Given the description of an element on the screen output the (x, y) to click on. 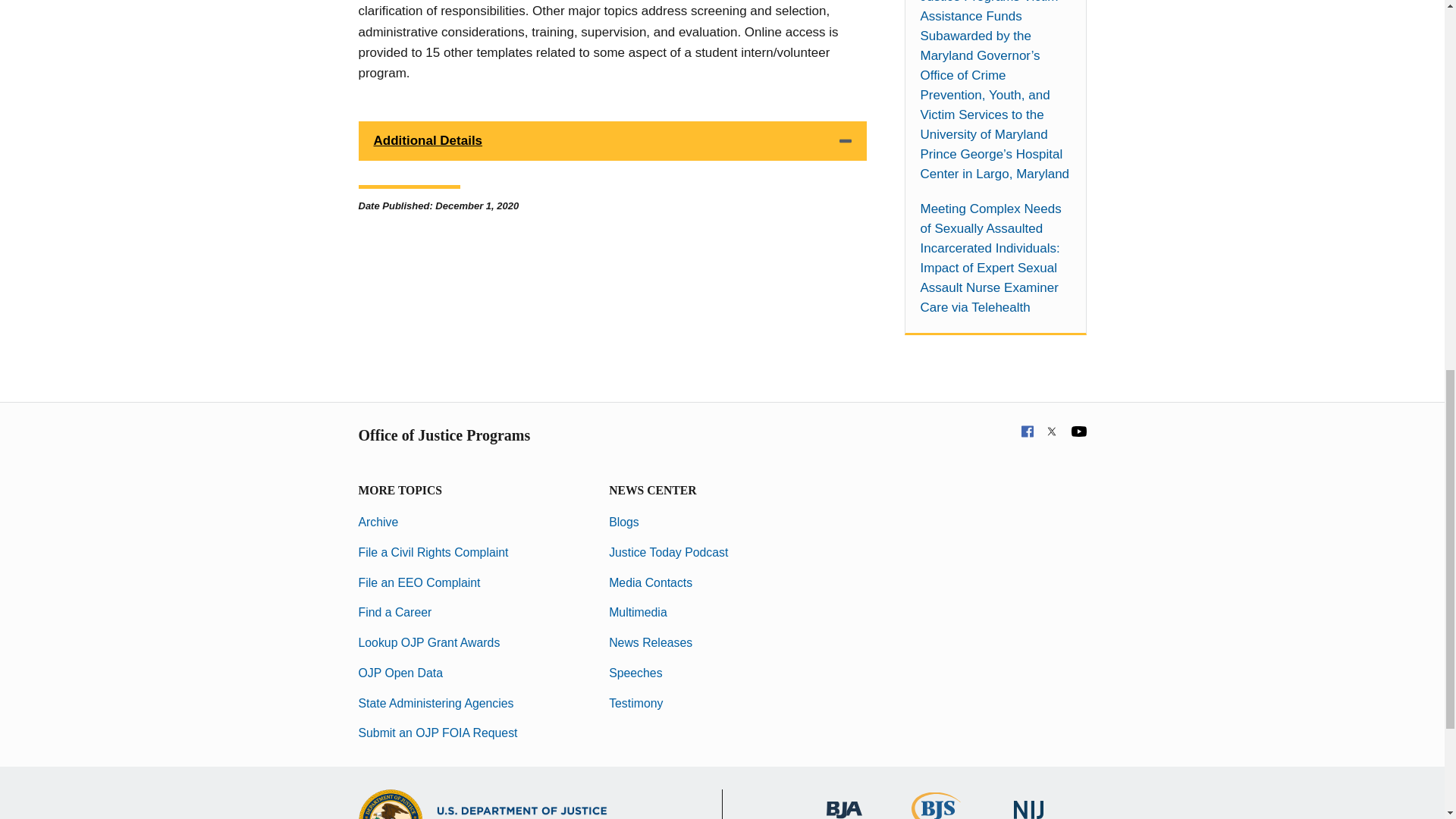
Archive (377, 521)
File a Civil Rights Complaint (433, 552)
Additional Details (612, 140)
